Given the description of an element on the screen output the (x, y) to click on. 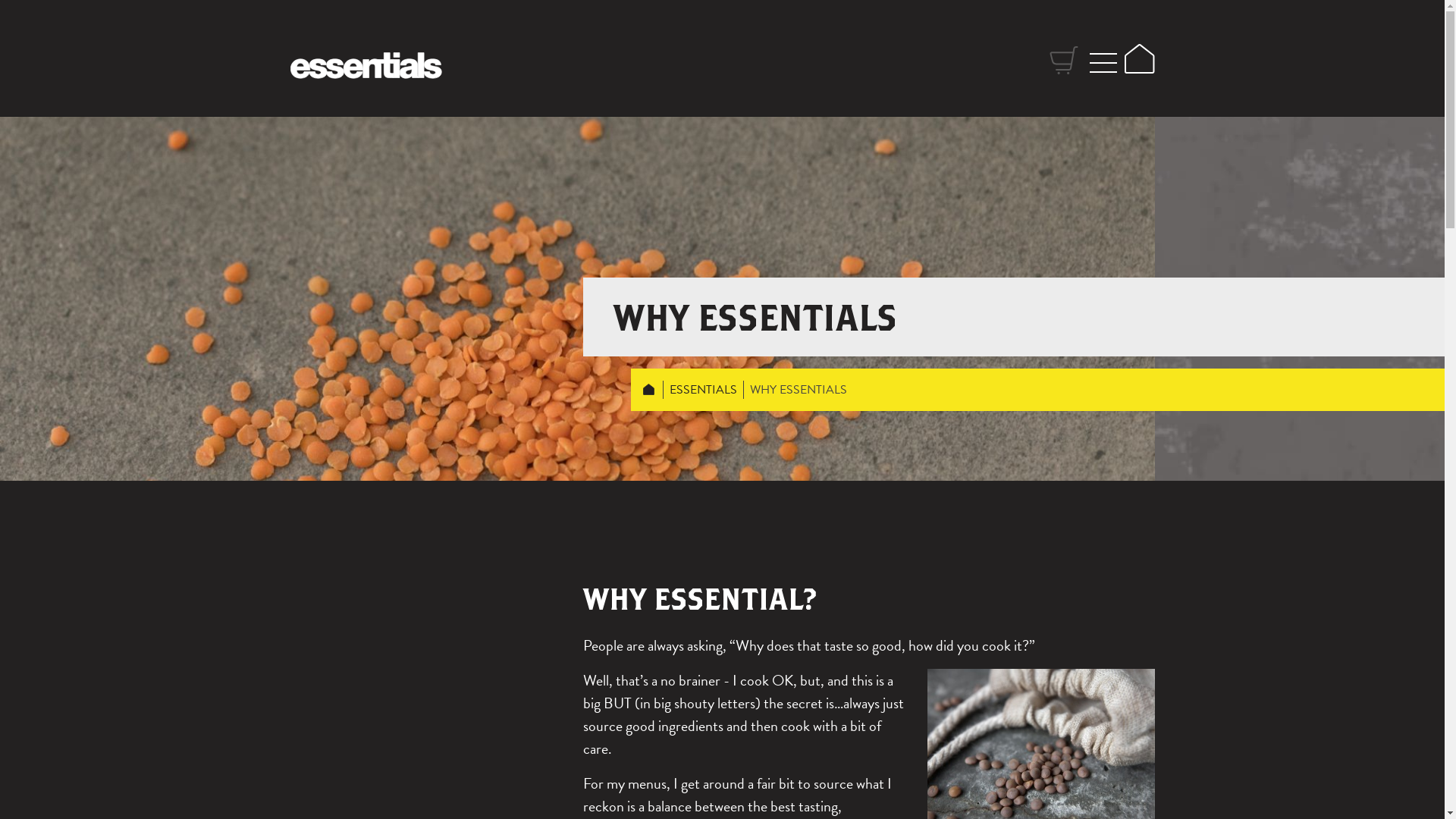
ESSENTIALS Element type: text (703, 389)
Home Element type: text (1138, 58)
HOME Element type: text (648, 389)
